Given the description of an element on the screen output the (x, y) to click on. 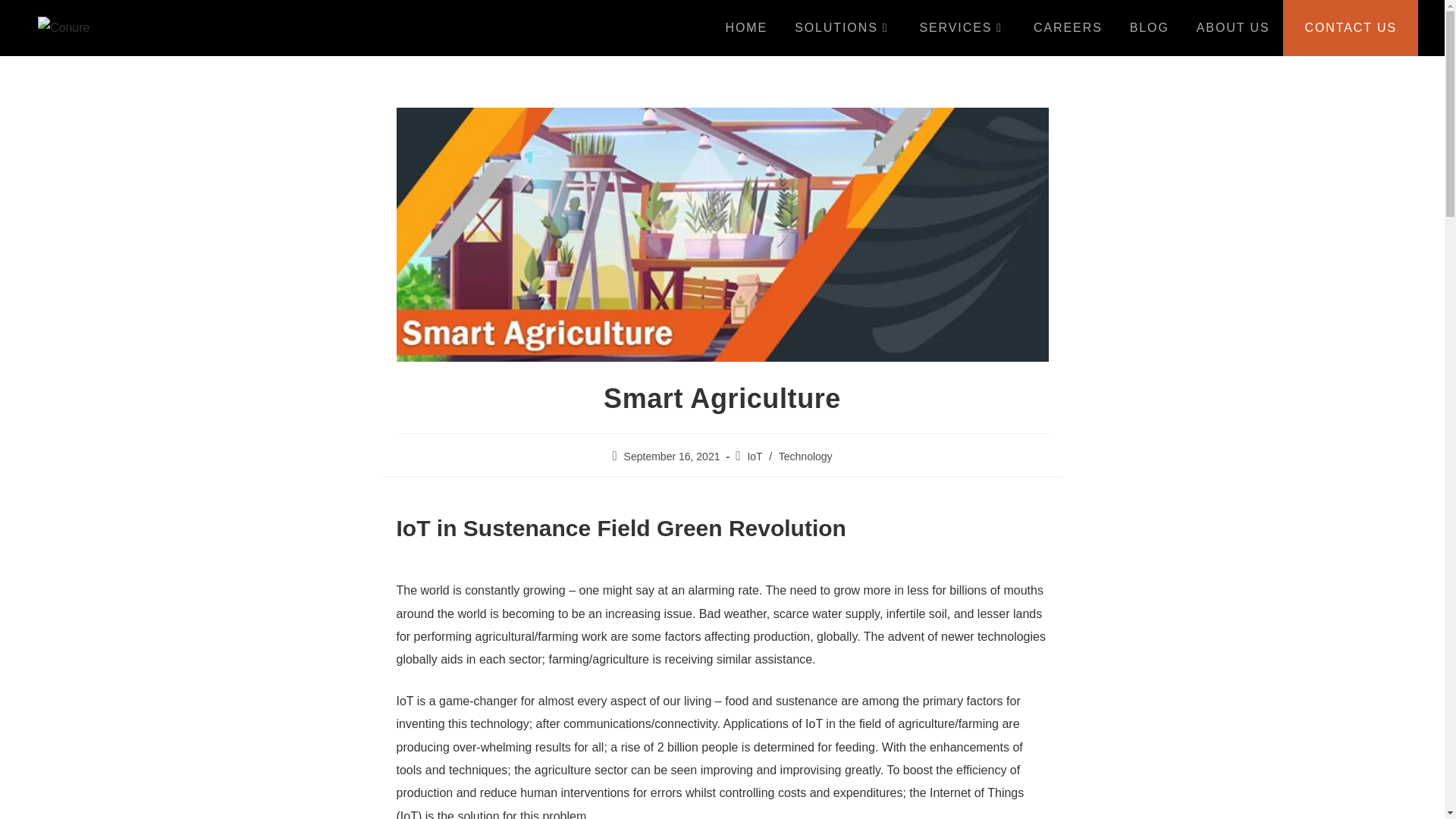
SERVICES (962, 28)
CONTACT US (1350, 28)
SOLUTIONS (842, 28)
BLOG (1149, 28)
ABOUT US (1233, 28)
HOME (746, 28)
CAREERS (1068, 28)
